Given the description of an element on the screen output the (x, y) to click on. 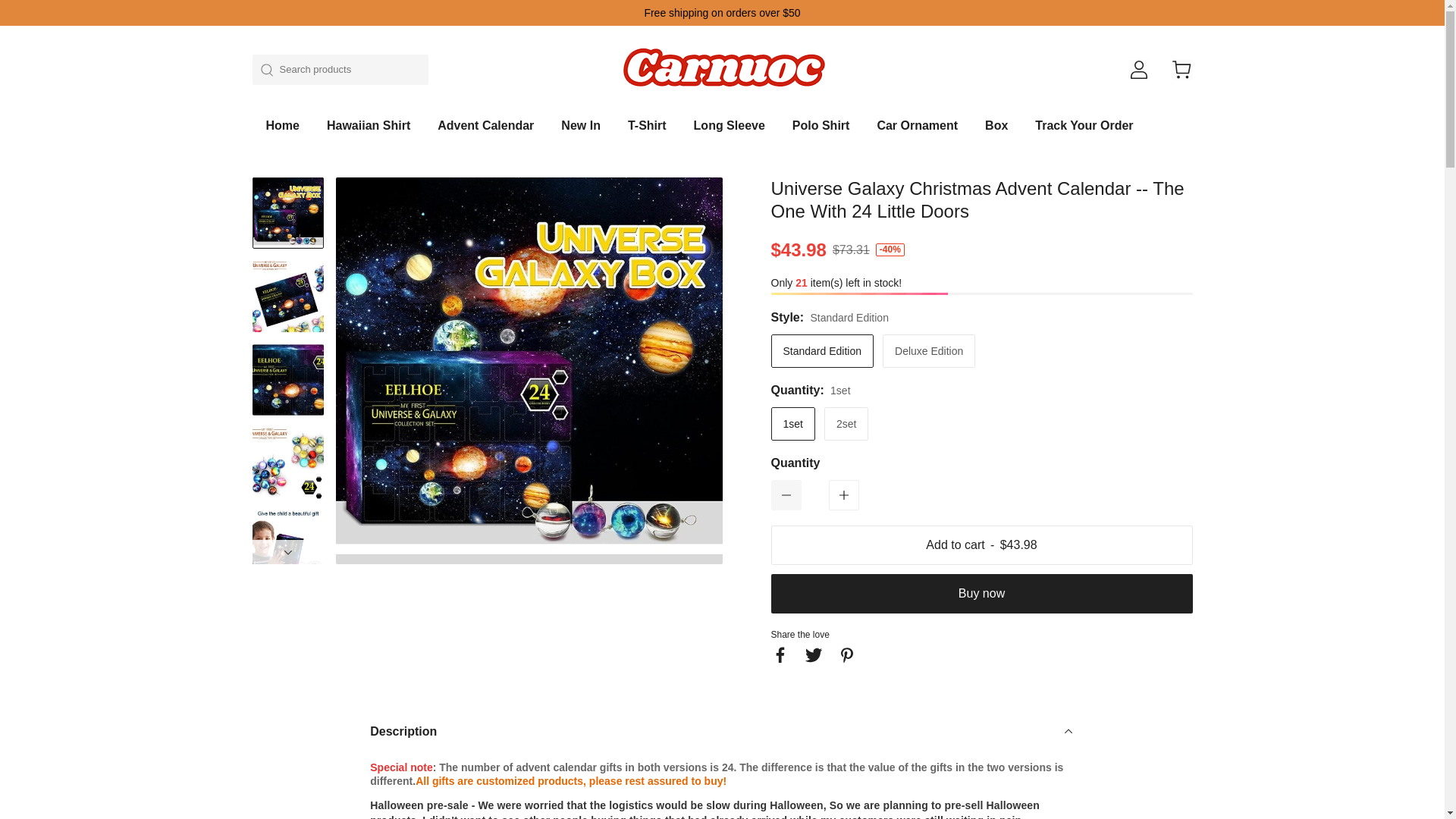
Long Sleeve (729, 132)
Advent Calendar (486, 132)
Car Ornament (917, 132)
New In (579, 132)
Polo Shirt (821, 132)
T-Shirt (646, 132)
Track Your Order (1083, 132)
Home (281, 132)
Hawaiian Shirt (368, 132)
